Given the description of an element on the screen output the (x, y) to click on. 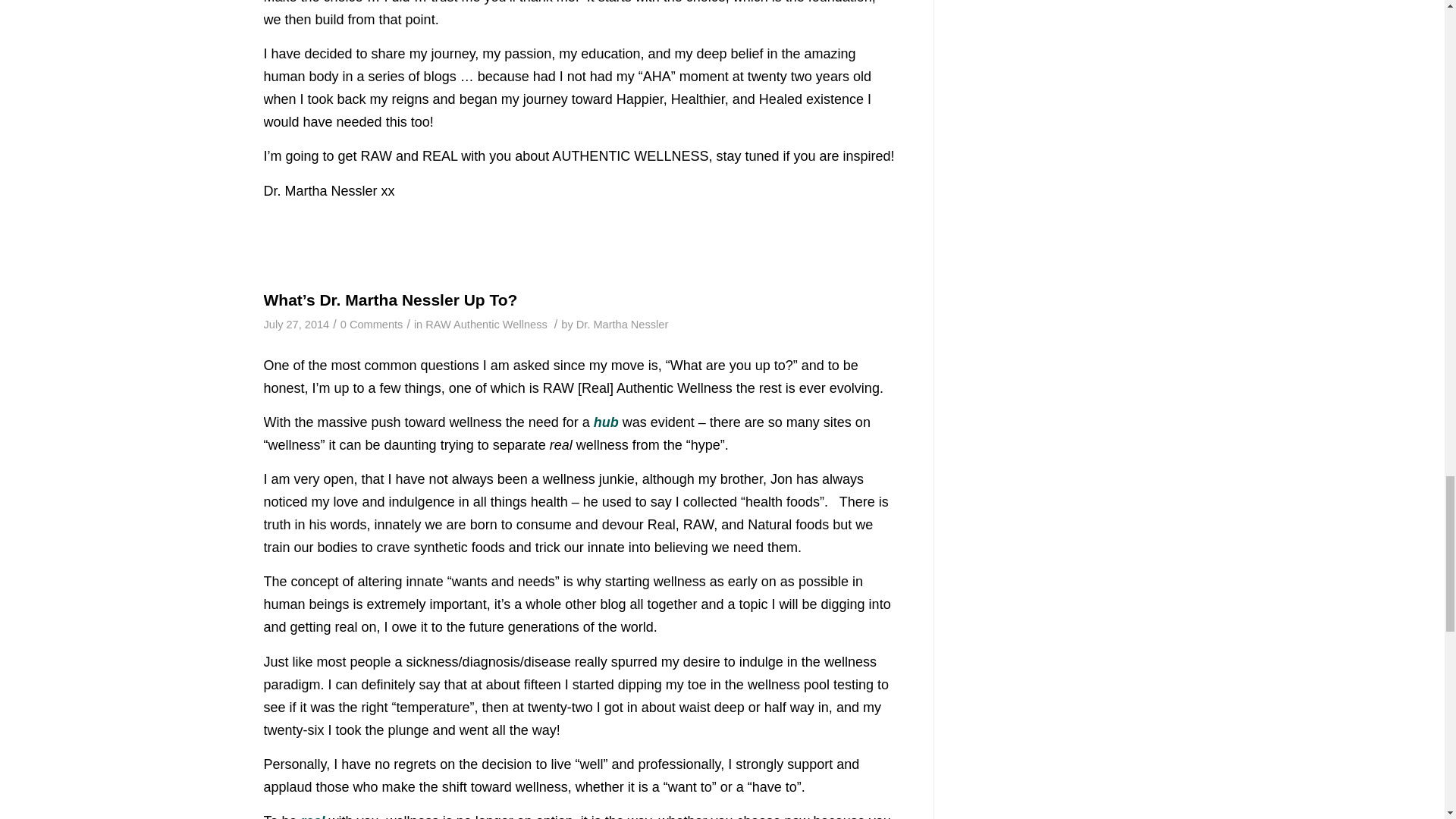
Dr. Martha Nessler (622, 324)
RAW Authentic Wellness (486, 324)
0 Comments (371, 324)
Posts by Dr. Martha Nessler (622, 324)
